Given the description of an element on the screen output the (x, y) to click on. 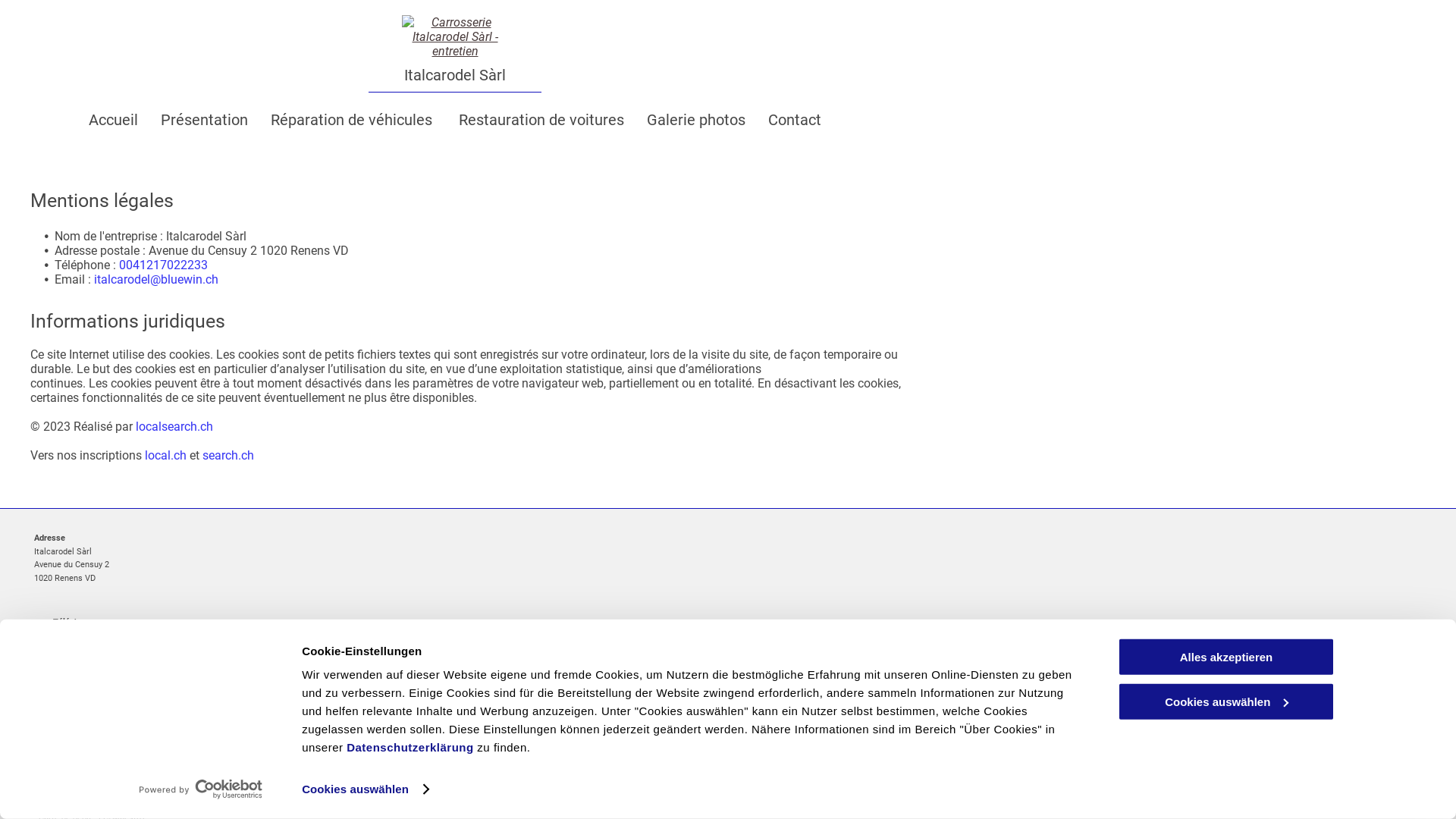
Alles akzeptieren Element type: text (1225, 656)
search.ch Element type: text (228, 455)
localsearch.ch Element type: text (174, 426)
0041217022233 Element type: text (82, 635)
italcarodel@bluewin.ch Element type: text (97, 661)
Galerie photos Element type: text (695, 115)
italcarodel@bluewin.ch Element type: text (156, 279)
local.ch Element type: text (165, 455)
Restauration de voitures Element type: text (541, 115)
Contact Element type: text (794, 115)
0041217022233 Element type: text (163, 264)
Accueil Element type: text (113, 115)
